Given the description of an element on the screen output the (x, y) to click on. 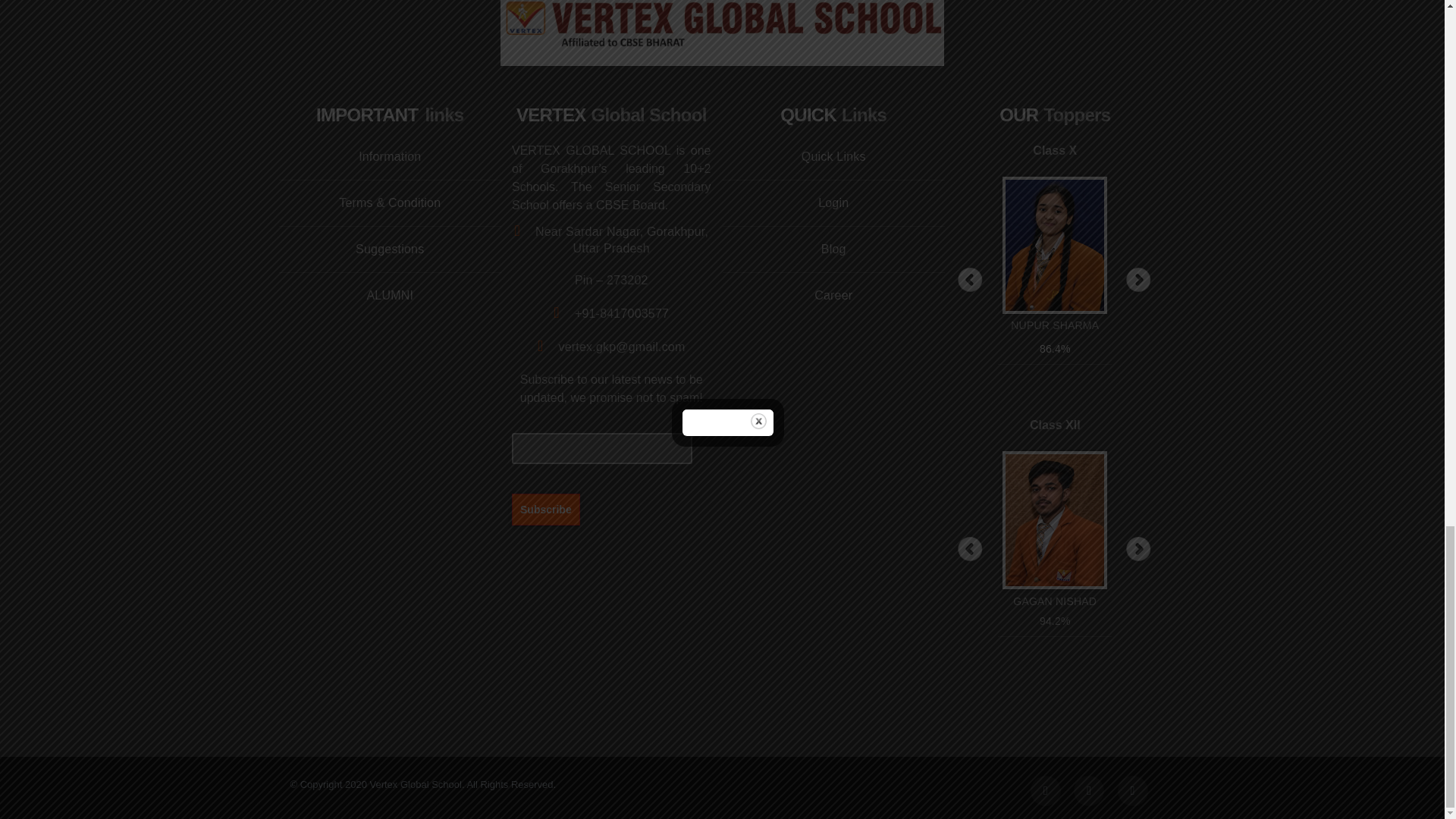
Subscribe (545, 508)
